Given the description of an element on the screen output the (x, y) to click on. 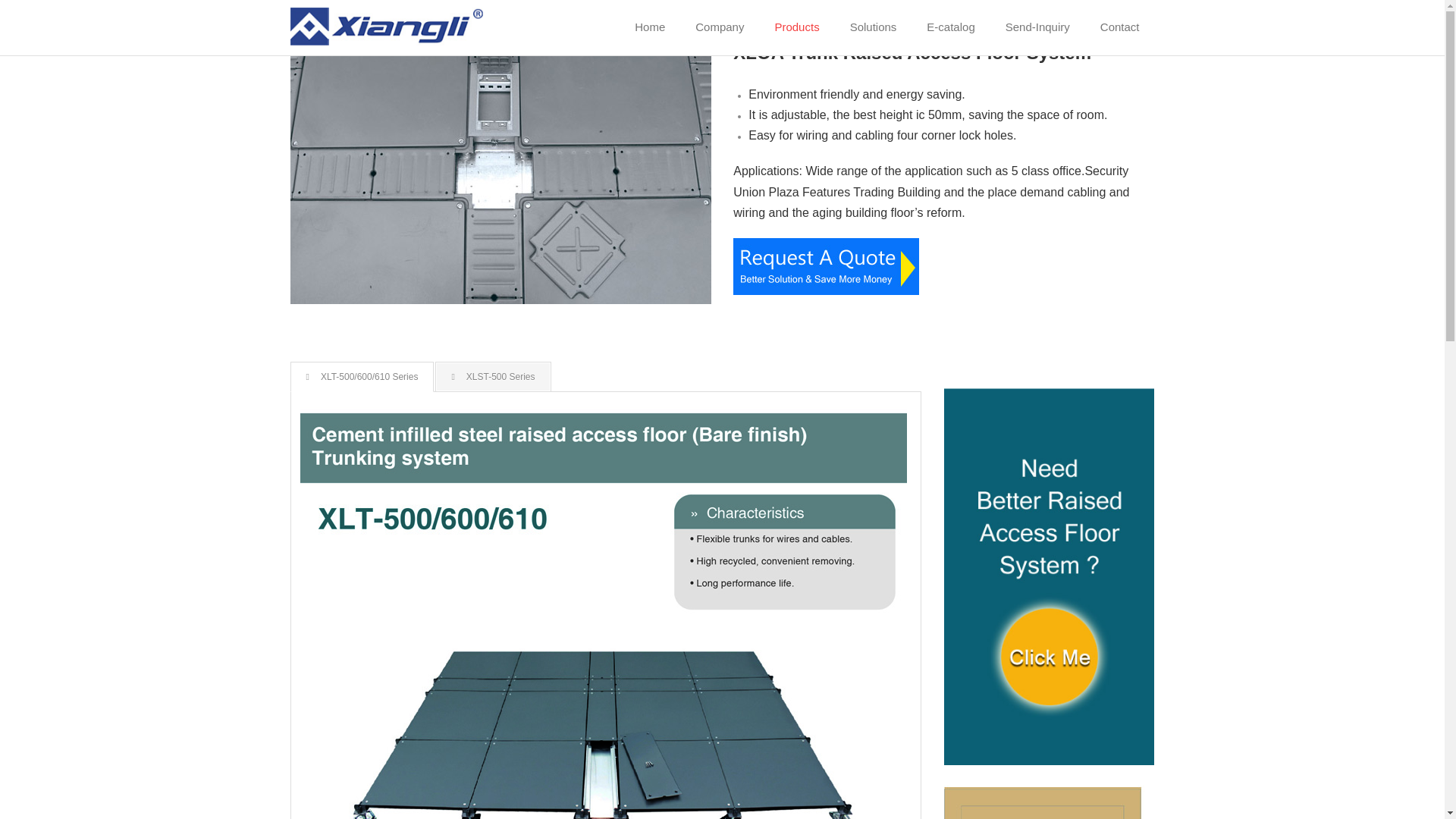
E-catalog (950, 27)
Company (718, 27)
Products (796, 27)
Send-Inquiry (1037, 27)
Home (649, 27)
Solutions (873, 27)
Contact (1119, 27)
